Given the description of an element on the screen output the (x, y) to click on. 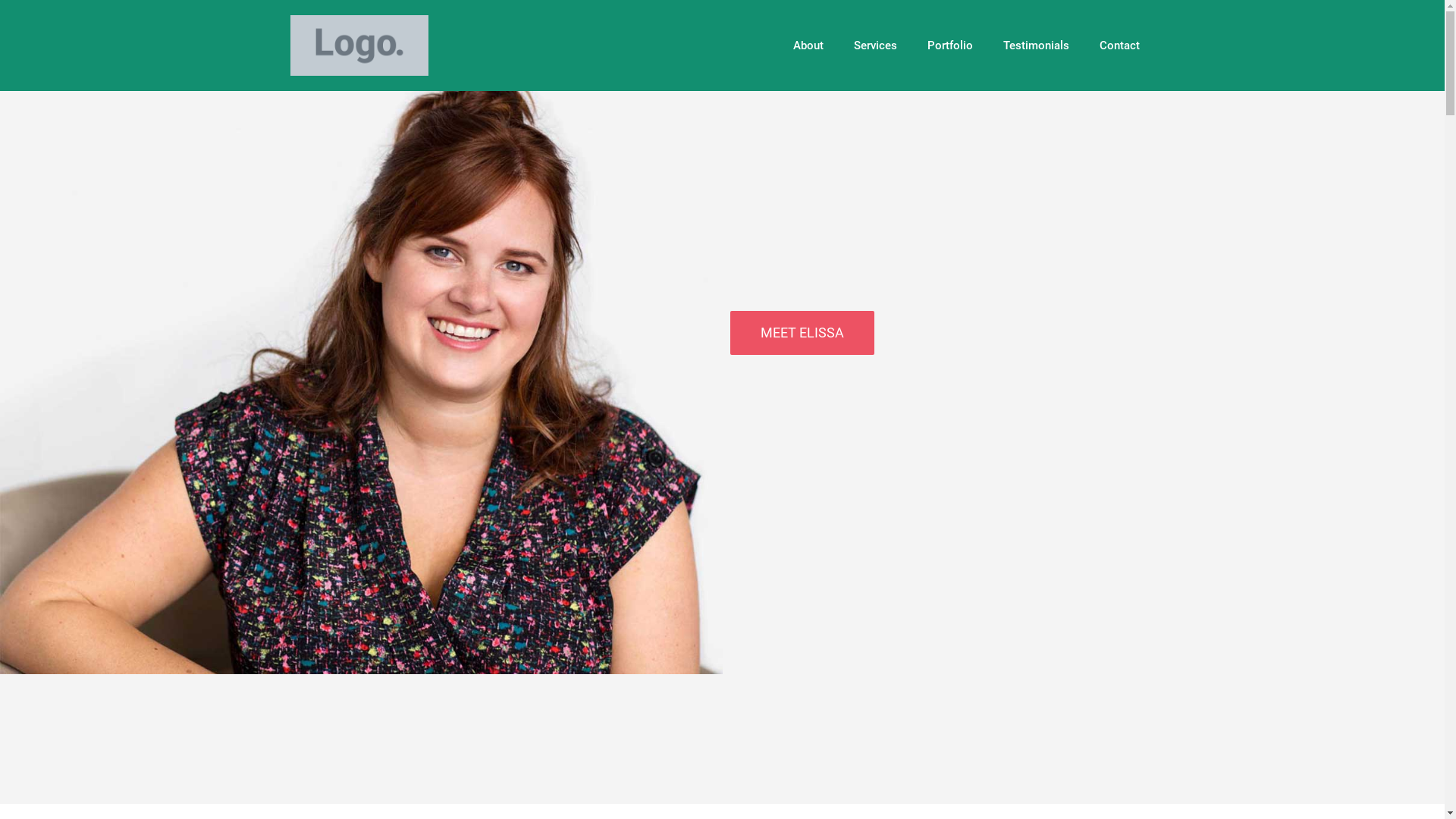
Portfolio Element type: text (949, 45)
Contact Element type: text (1119, 45)
About Element type: text (808, 45)
Services Element type: text (875, 45)
MEET ELISSA Element type: text (801, 332)
Testimonials Element type: text (1035, 45)
